Given the description of an element on the screen output the (x, y) to click on. 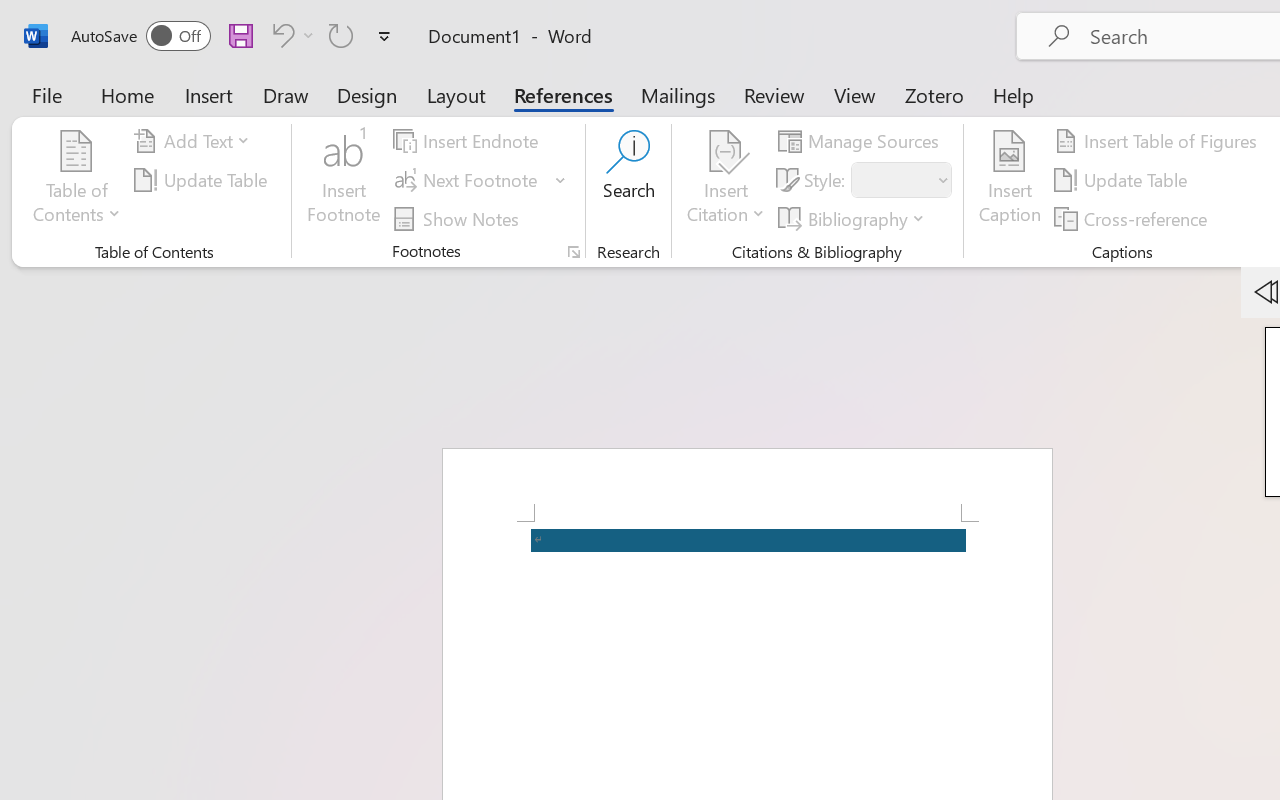
Insert Table of Figures... (1158, 141)
Repeat Accessibility Checker (341, 35)
Insert Endnote (468, 141)
Next Footnote (479, 179)
Update Table (1124, 179)
Manage Sources... (861, 141)
Next Footnote (468, 179)
Table of Contents (77, 179)
Style (892, 179)
Search (628, 179)
